Given the description of an element on the screen output the (x, y) to click on. 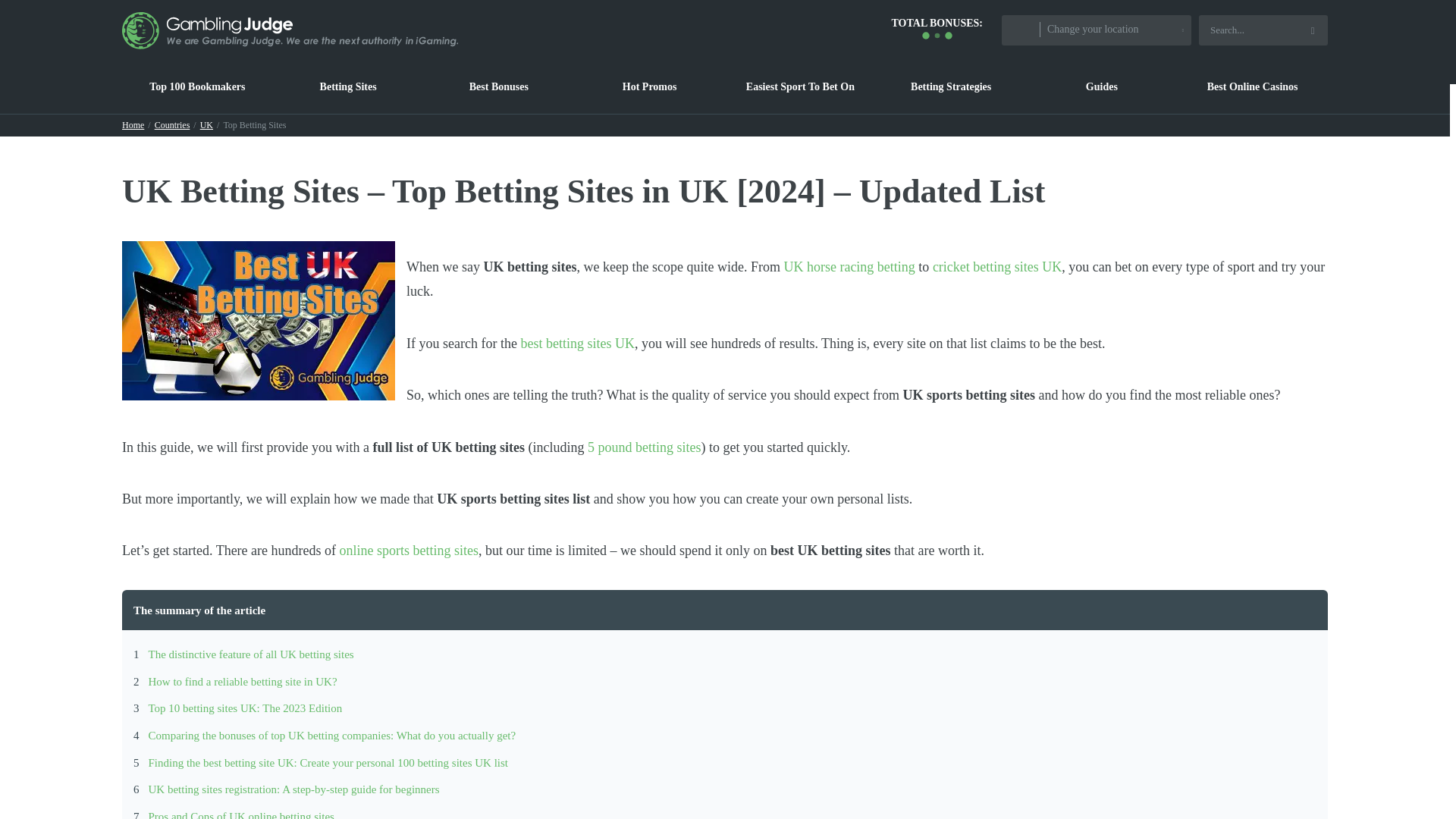
Top 100 Bookmakers (197, 86)
Best Bonuses (498, 86)
Best Reviews (197, 86)
Betting Sites (348, 86)
Best Bonuses (498, 86)
Betting Guides (1101, 86)
